Given the description of an element on the screen output the (x, y) to click on. 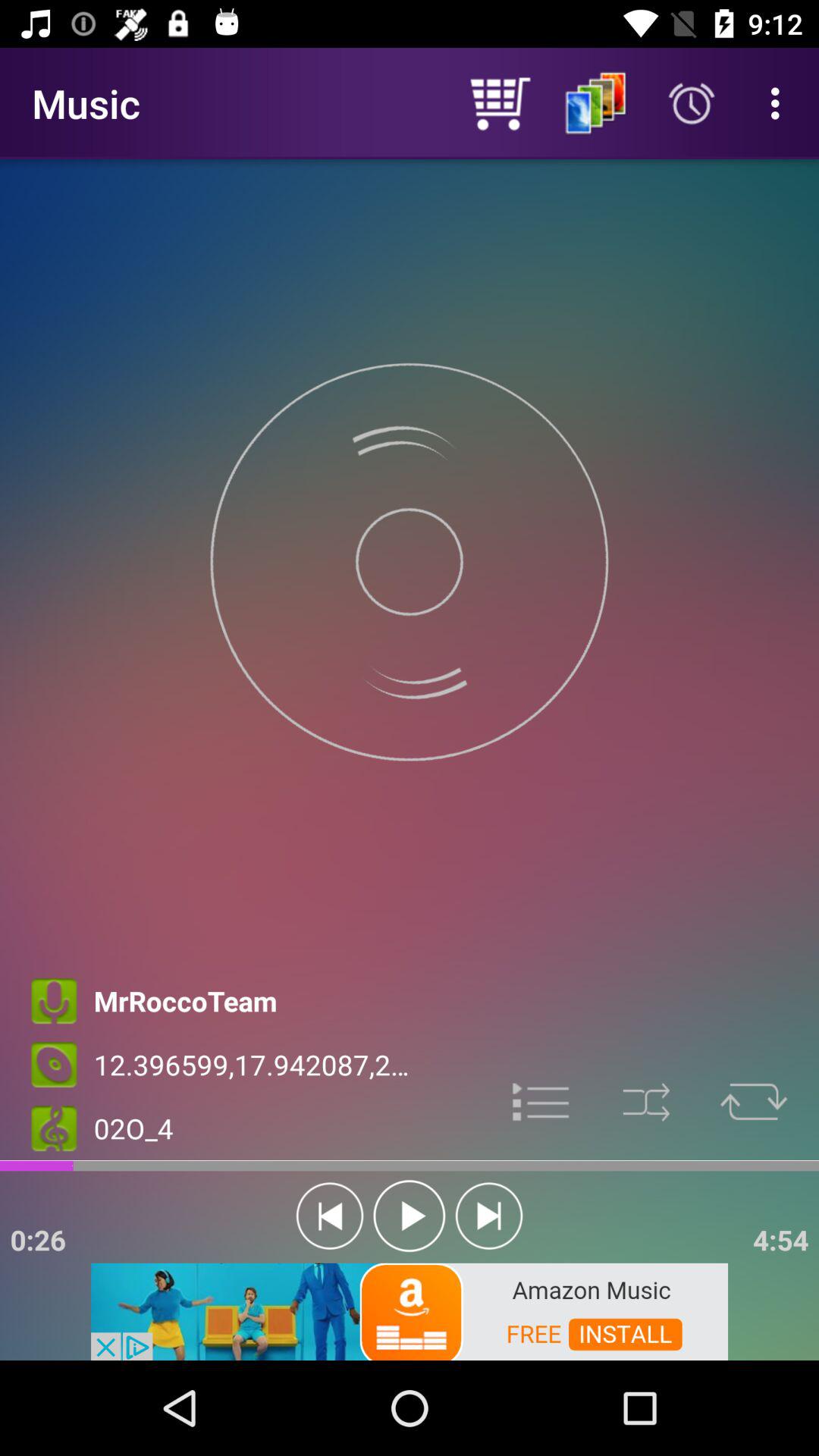
shuffle on (646, 1102)
